Given the description of an element on the screen output the (x, y) to click on. 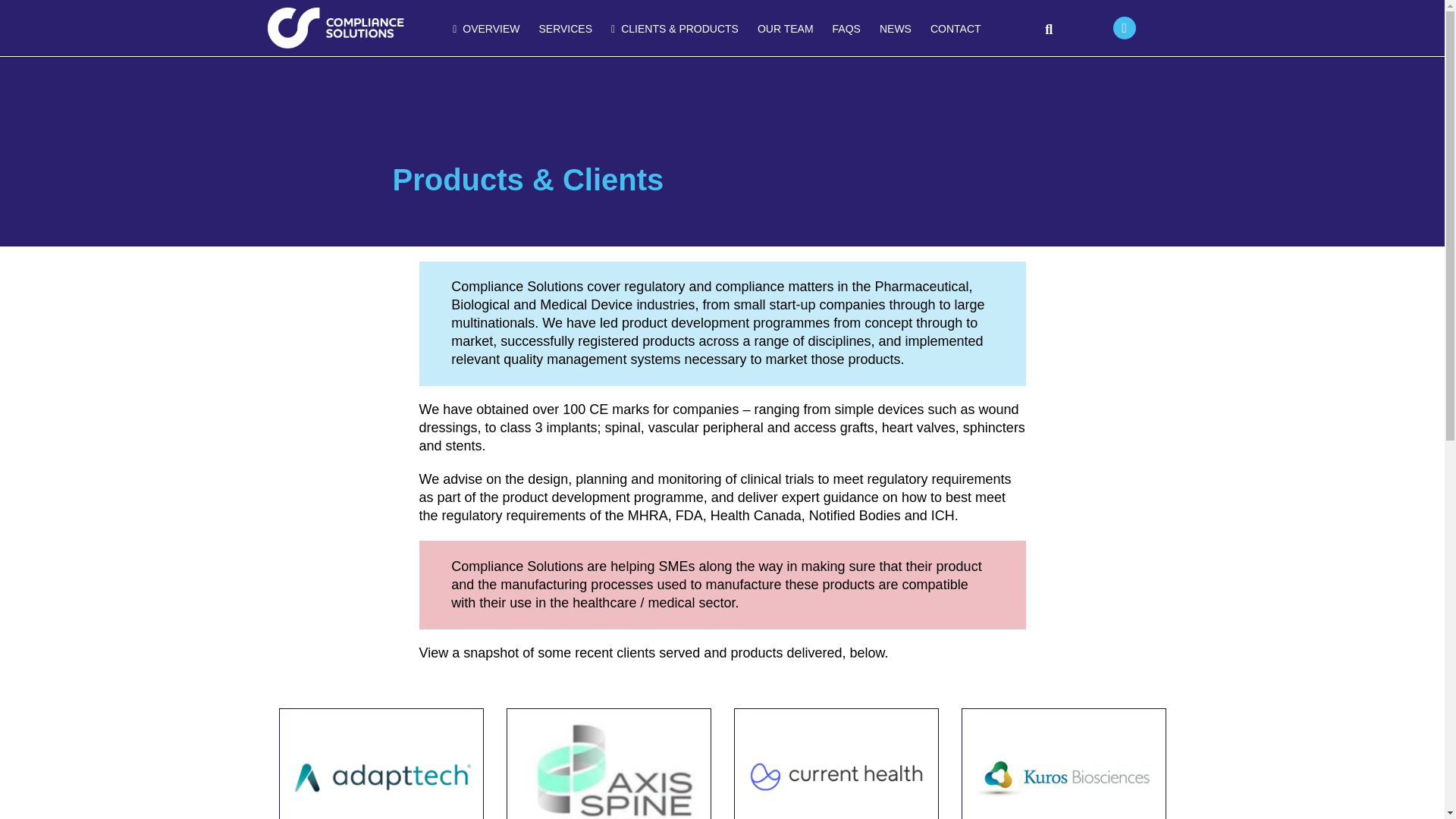
NEWS (895, 29)
Linkedin (1124, 27)
SERVICES (565, 29)
FAQS (846, 29)
OUR TEAM (785, 29)
OVERVIEW (486, 29)
CONTACT (955, 29)
